Given the description of an element on the screen output the (x, y) to click on. 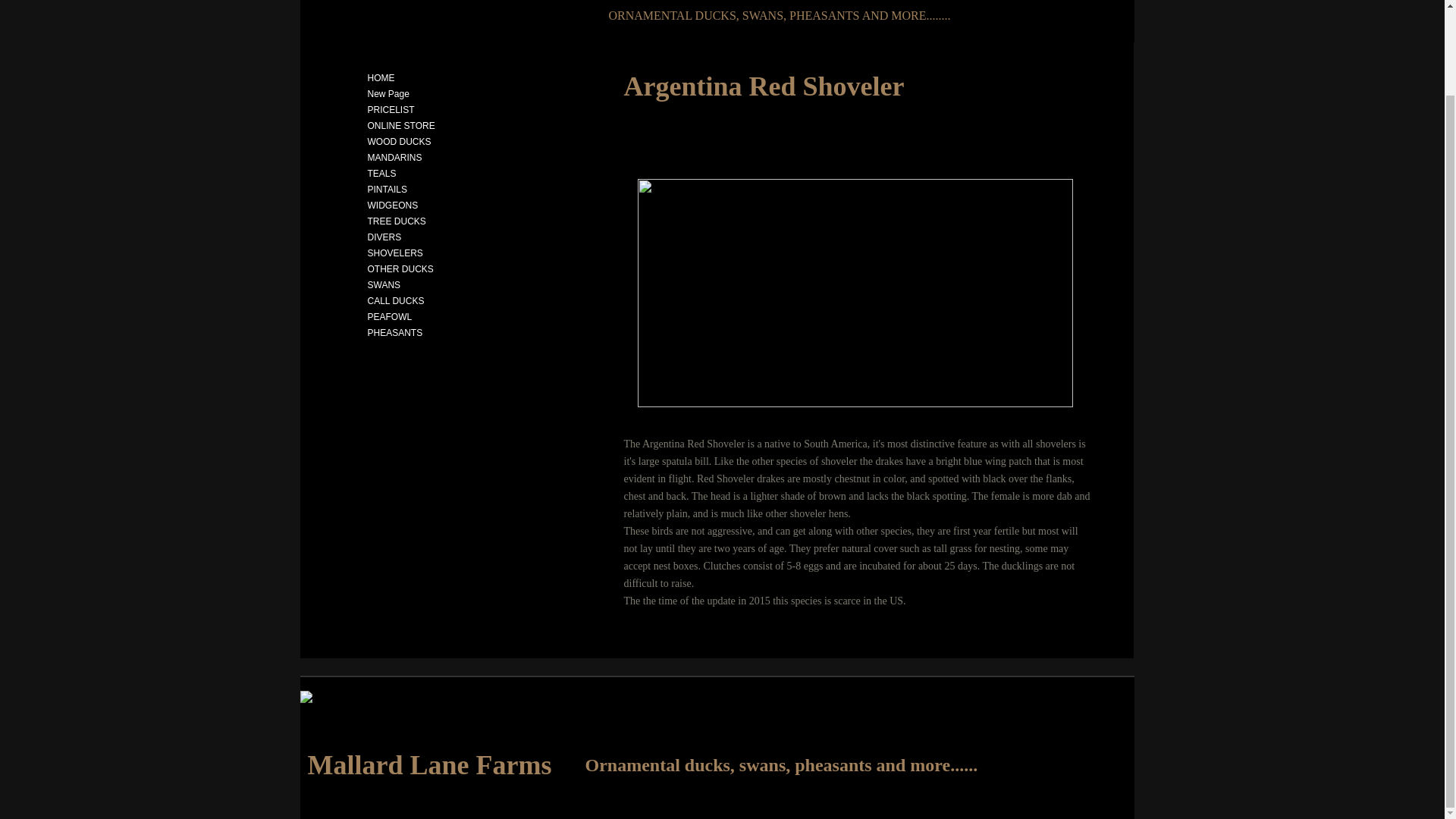
PRICELIST (390, 110)
DIVERS (384, 237)
TEALS (381, 173)
ONLINE STORE (400, 125)
New Page (387, 93)
WIDGEONS (392, 205)
PINTAILS (386, 189)
WOOD DUCKS (398, 141)
TREE DUCKS (395, 221)
MANDARINS (394, 157)
